Given the description of an element on the screen output the (x, y) to click on. 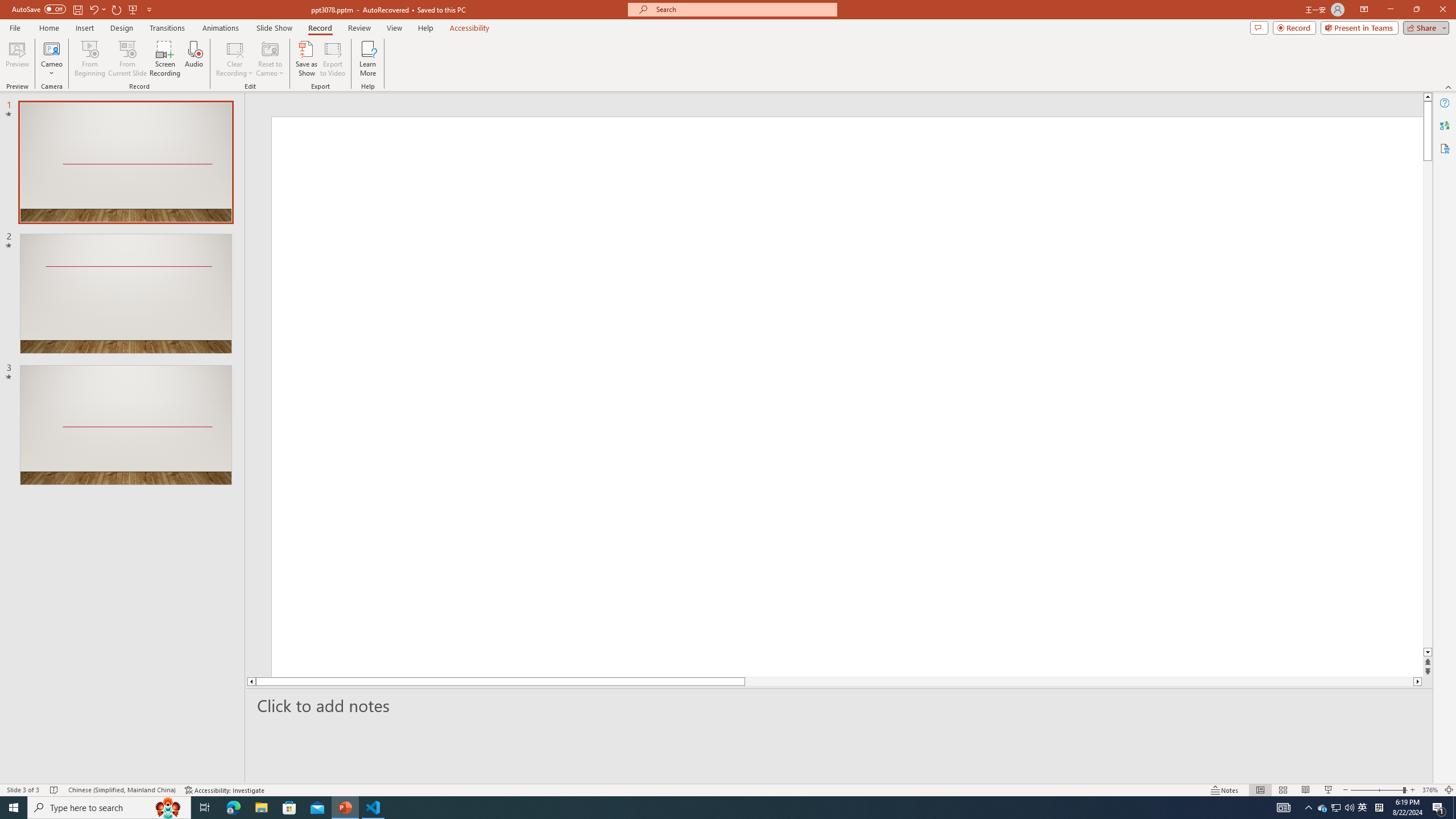
Notes  (1225, 790)
Title TextBox (790, 476)
Preview (17, 58)
